Given the description of an element on the screen output the (x, y) to click on. 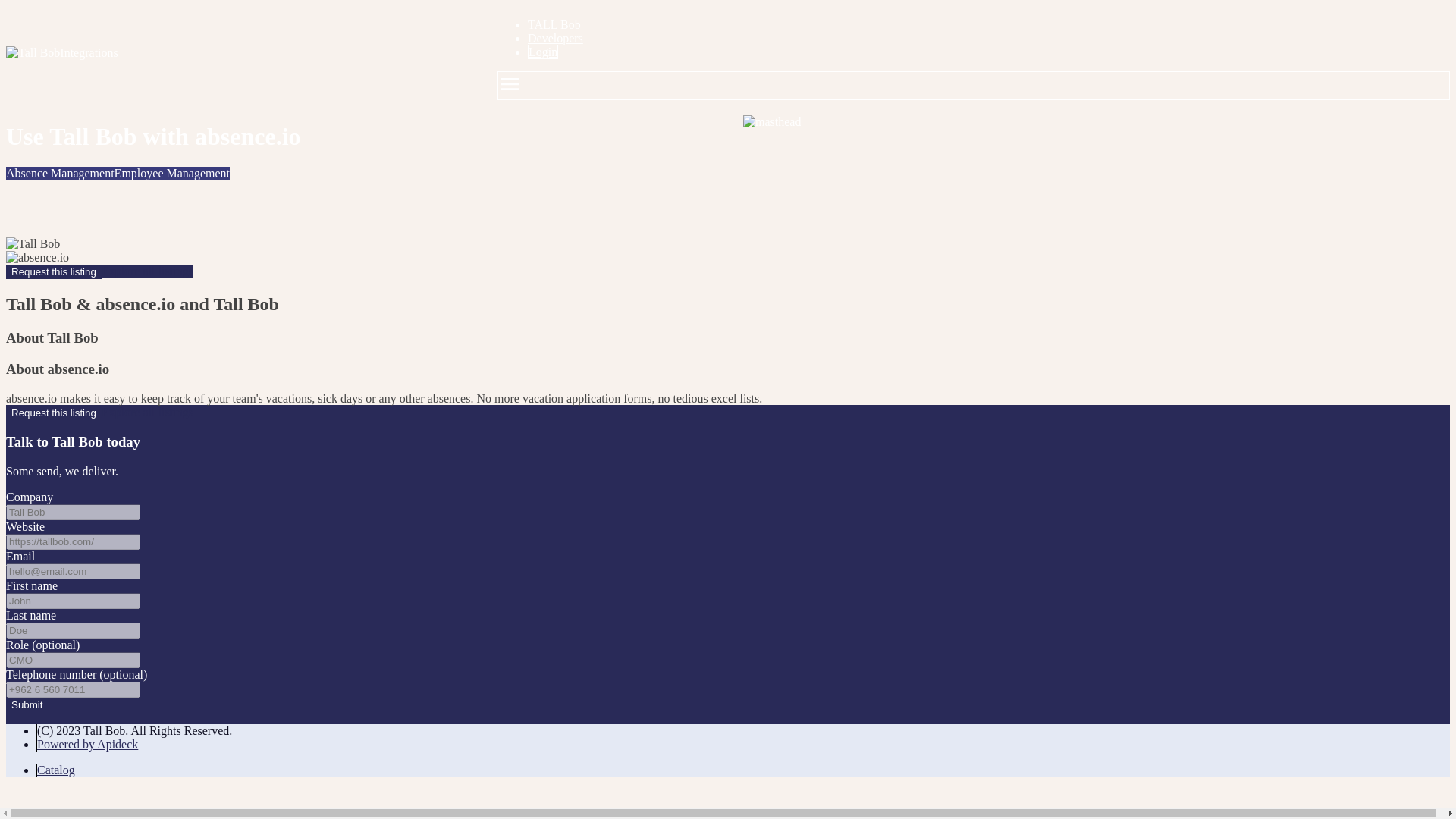
Submit (26, 704)
absence.io (36, 257)
Powered by Apideck (87, 744)
Request this listing (53, 412)
Request this listing (53, 271)
Integrations (236, 52)
Developers (555, 38)
Login (542, 51)
TALL Bob (553, 24)
Explore all listings (147, 411)
Tall Bob (32, 243)
Tall Bob (32, 52)
Explore all listings (147, 270)
Catalog (56, 769)
